Given the description of an element on the screen output the (x, y) to click on. 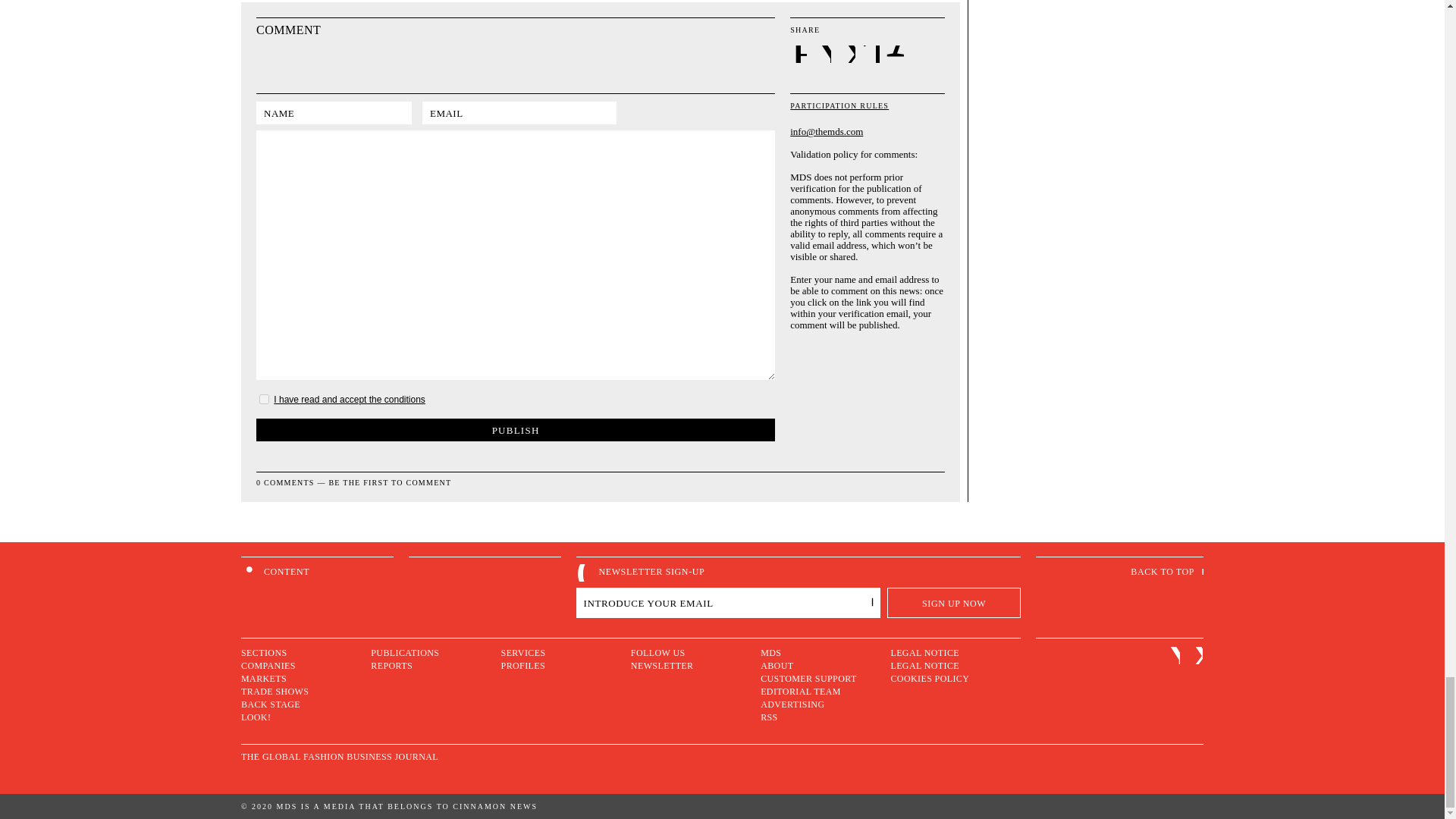
PUBLISH (515, 429)
A (895, 54)
I have read and accept the conditions (349, 398)
X (847, 54)
1 (264, 398)
E (799, 54)
T (872, 54)
Y (822, 54)
